Given the description of an element on the screen output the (x, y) to click on. 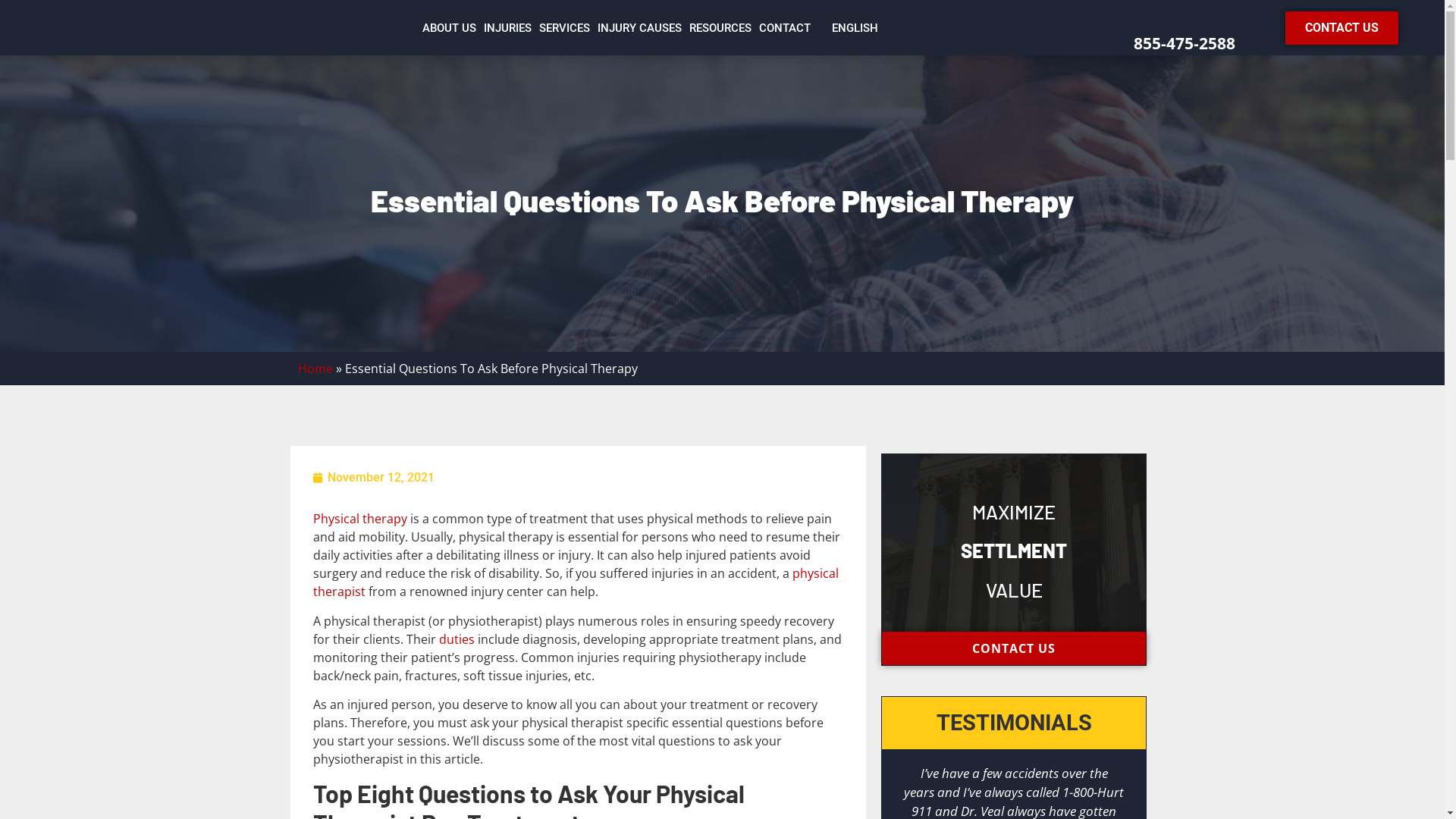
CONTACT US Element type: text (1013, 648)
SERVICES Element type: text (564, 27)
ABOUT US Element type: text (449, 27)
INJURIES Element type: text (507, 27)
physical therapist Element type: text (574, 581)
Physical therapy Element type: text (359, 518)
855-475-2588 Element type: text (1184, 42)
CONTACT US Element type: text (1341, 27)
CONTACT Element type: text (784, 27)
ENGLISH Element type: text (847, 27)
duties Element type: text (455, 638)
RESOURCES Element type: text (720, 27)
INJURY CAUSES Element type: text (639, 27)
Home Element type: text (314, 368)
